Given the description of an element on the screen output the (x, y) to click on. 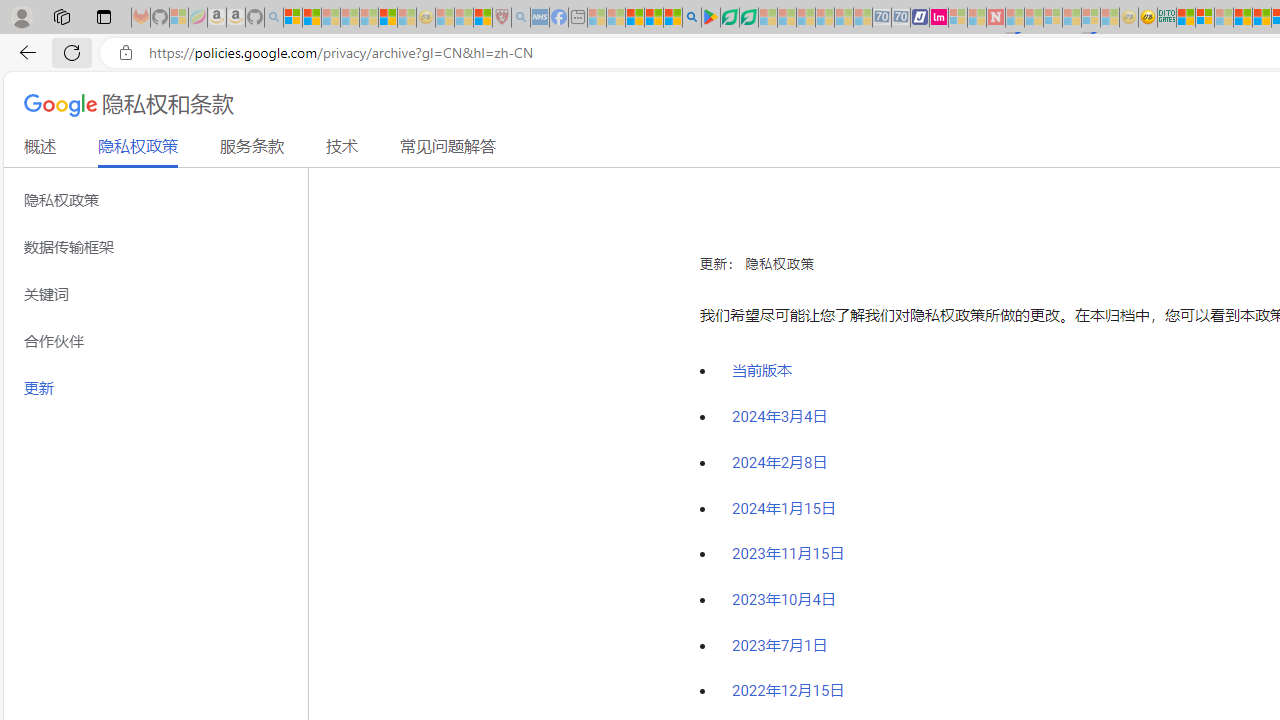
Kinda Frugal - MSN (1262, 17)
